Given the description of an element on the screen output the (x, y) to click on. 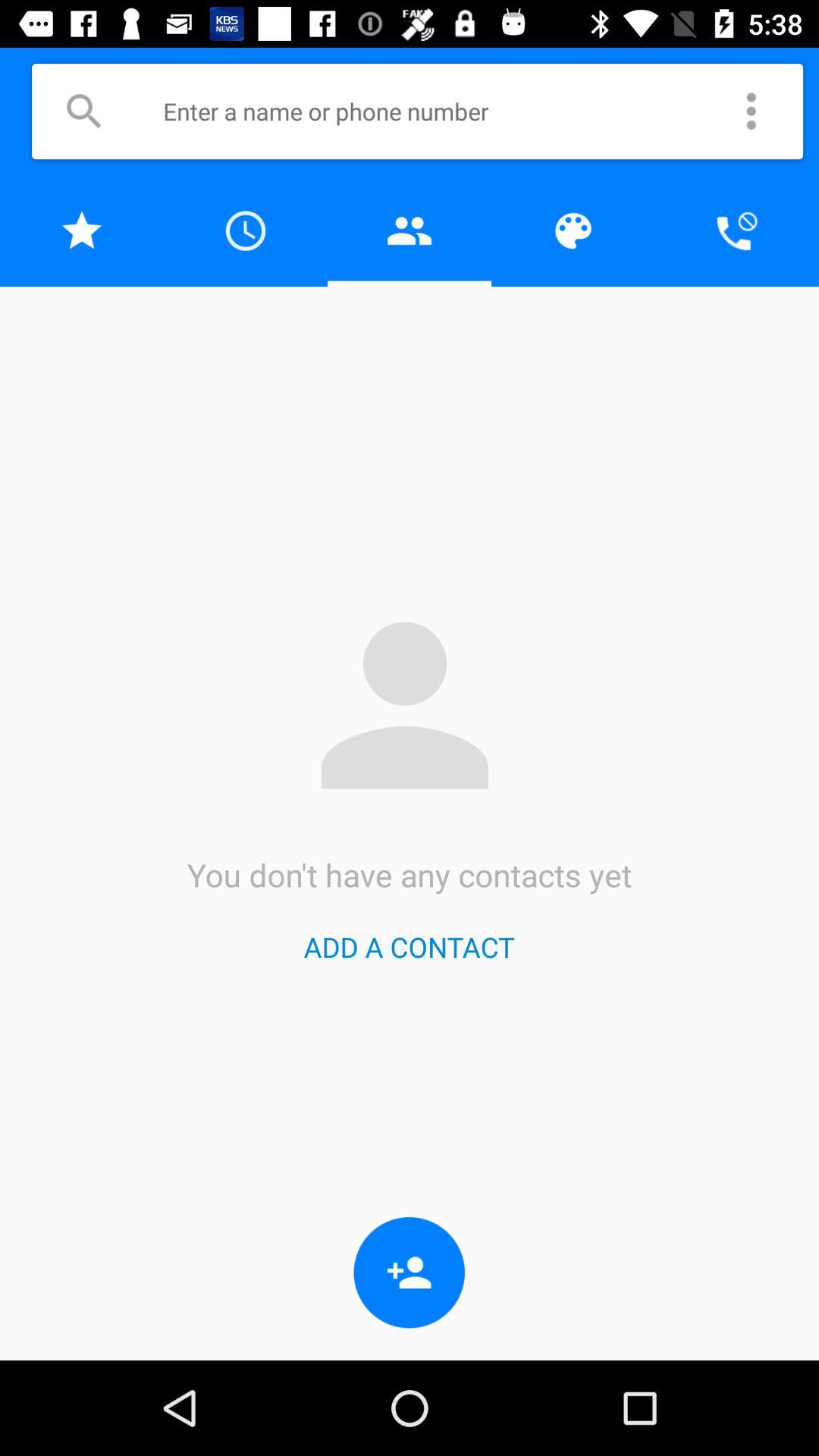
turn on add a contact icon (408, 946)
